Given the description of an element on the screen output the (x, y) to click on. 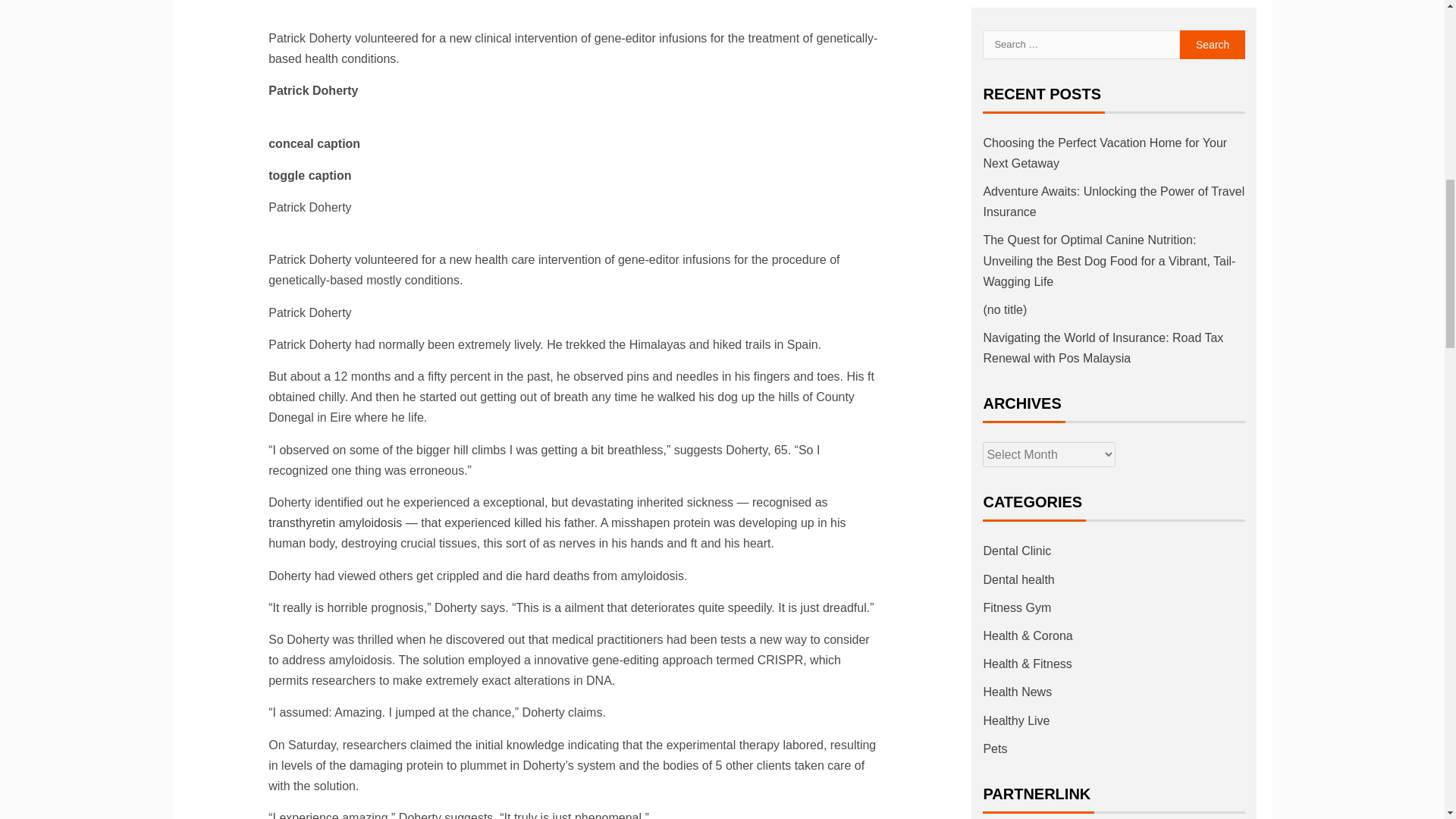
transthyretin amyloidosis (334, 522)
Search (1212, 44)
Search (1212, 44)
